Given the description of an element on the screen output the (x, y) to click on. 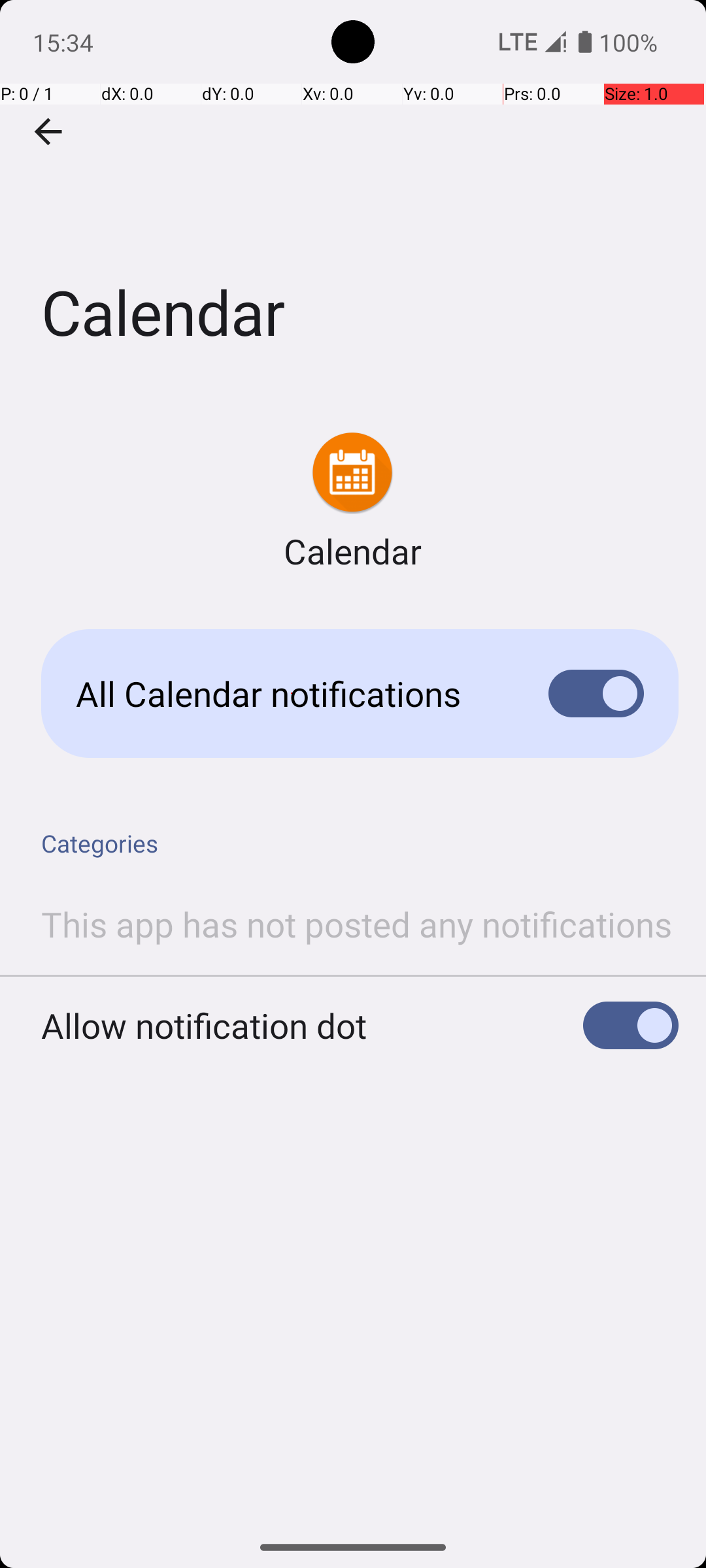
All Calendar notifications Element type: android.widget.TextView (291, 693)
This app has not posted any notifications Element type: android.widget.TextView (356, 923)
Allow notification dot Element type: android.widget.TextView (203, 1025)
